Given the description of an element on the screen output the (x, y) to click on. 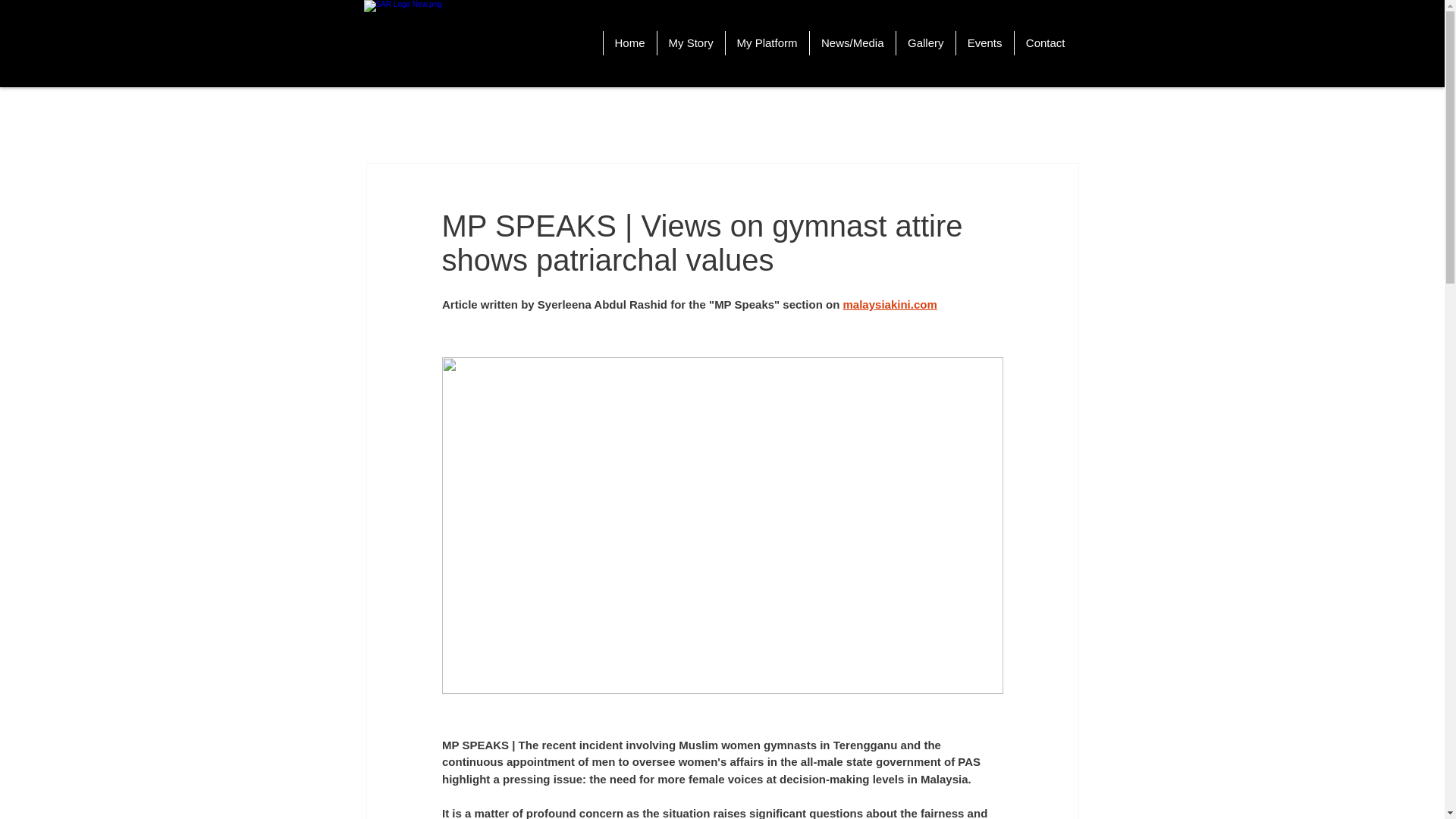
Gallery (925, 43)
Events (984, 43)
My Story (690, 43)
malaysiakini.com (889, 304)
Contact (1044, 43)
My Platform (767, 43)
Home (629, 43)
